Given the description of an element on the screen output the (x, y) to click on. 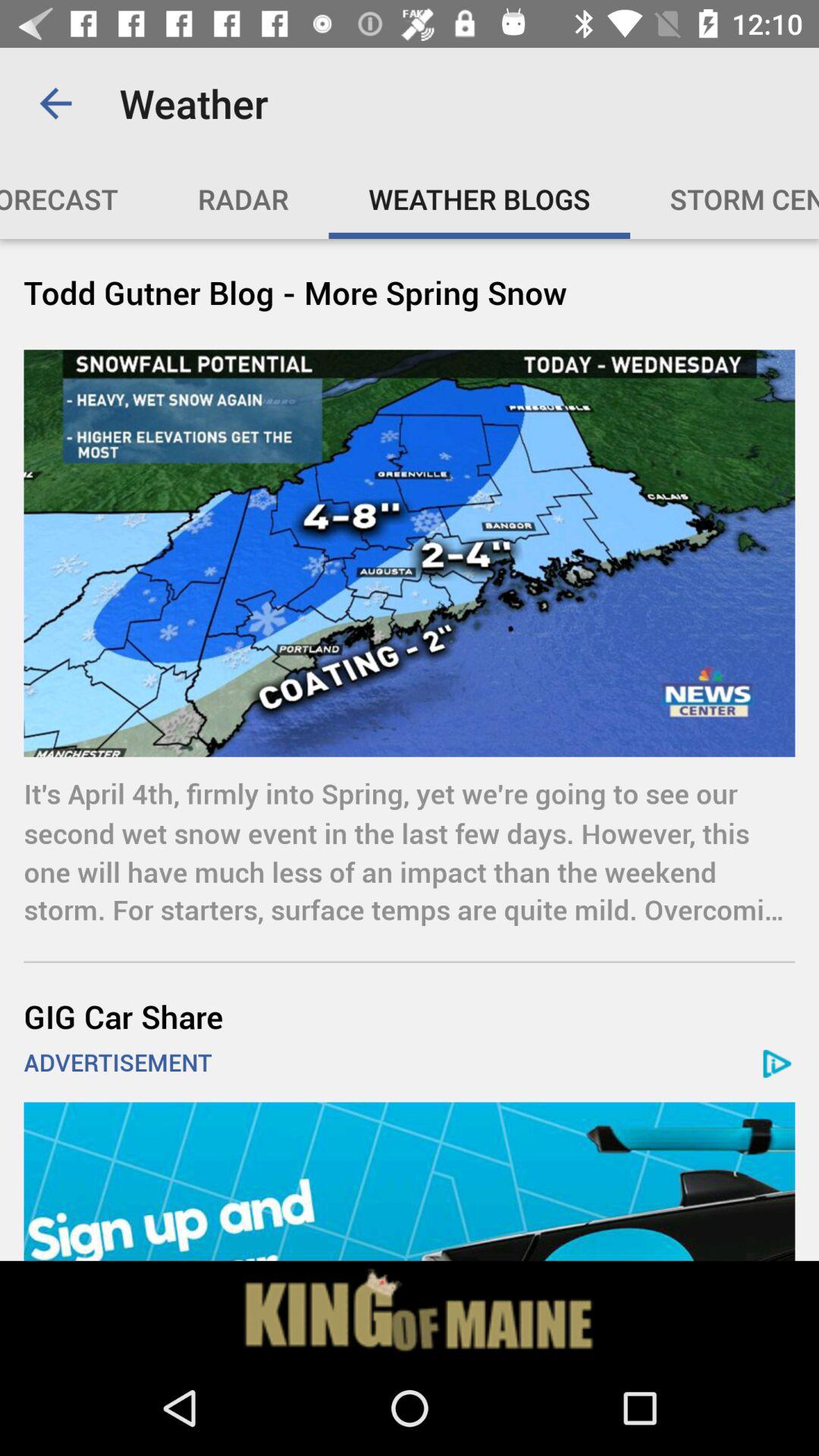
click the item above the video forecast icon (55, 103)
